Given the description of an element on the screen output the (x, y) to click on. 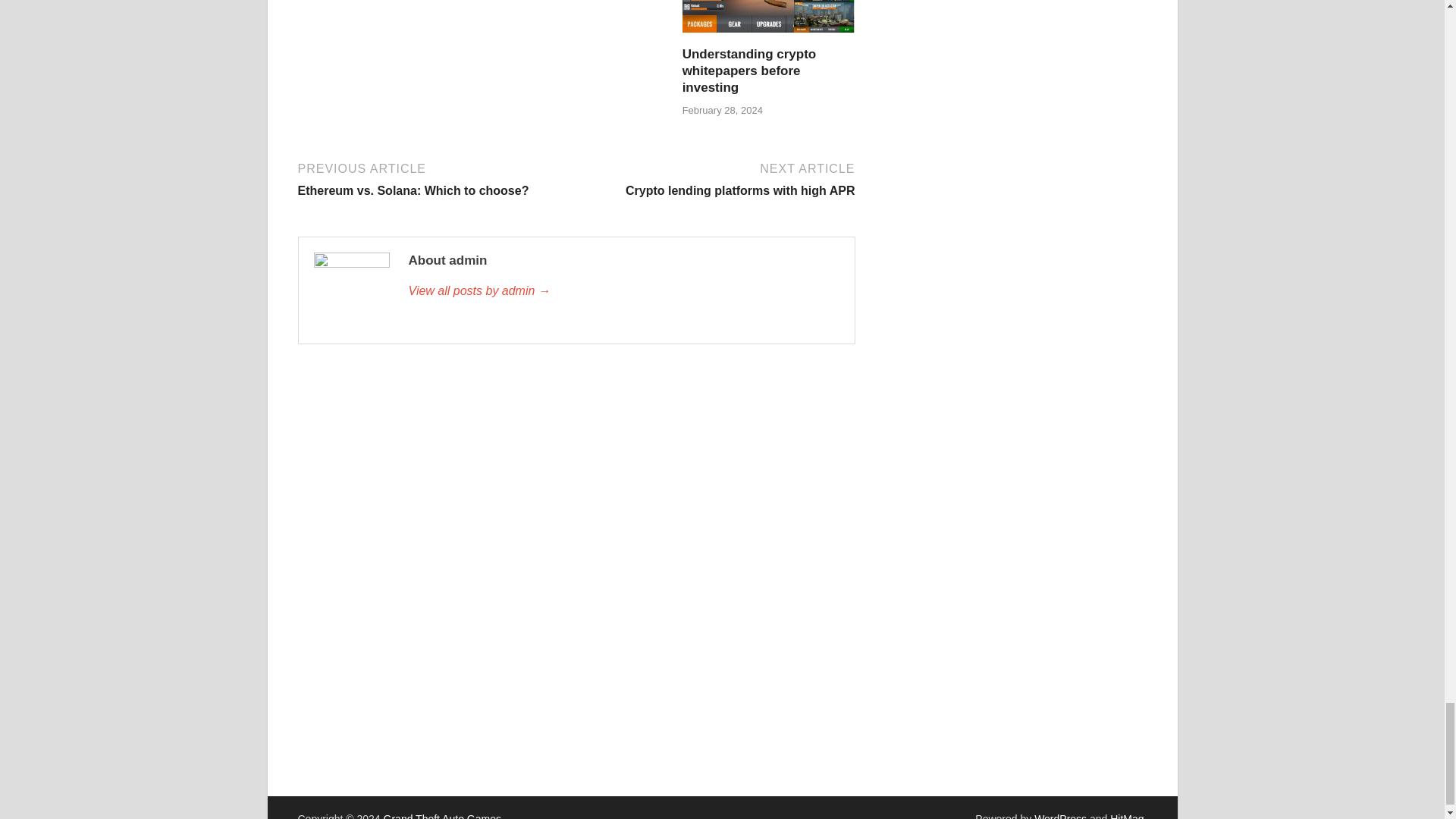
Understanding crypto whitepapers before investing (749, 70)
Understanding crypto whitepapers before investing (769, 36)
admin (622, 290)
